Given the description of an element on the screen output the (x, y) to click on. 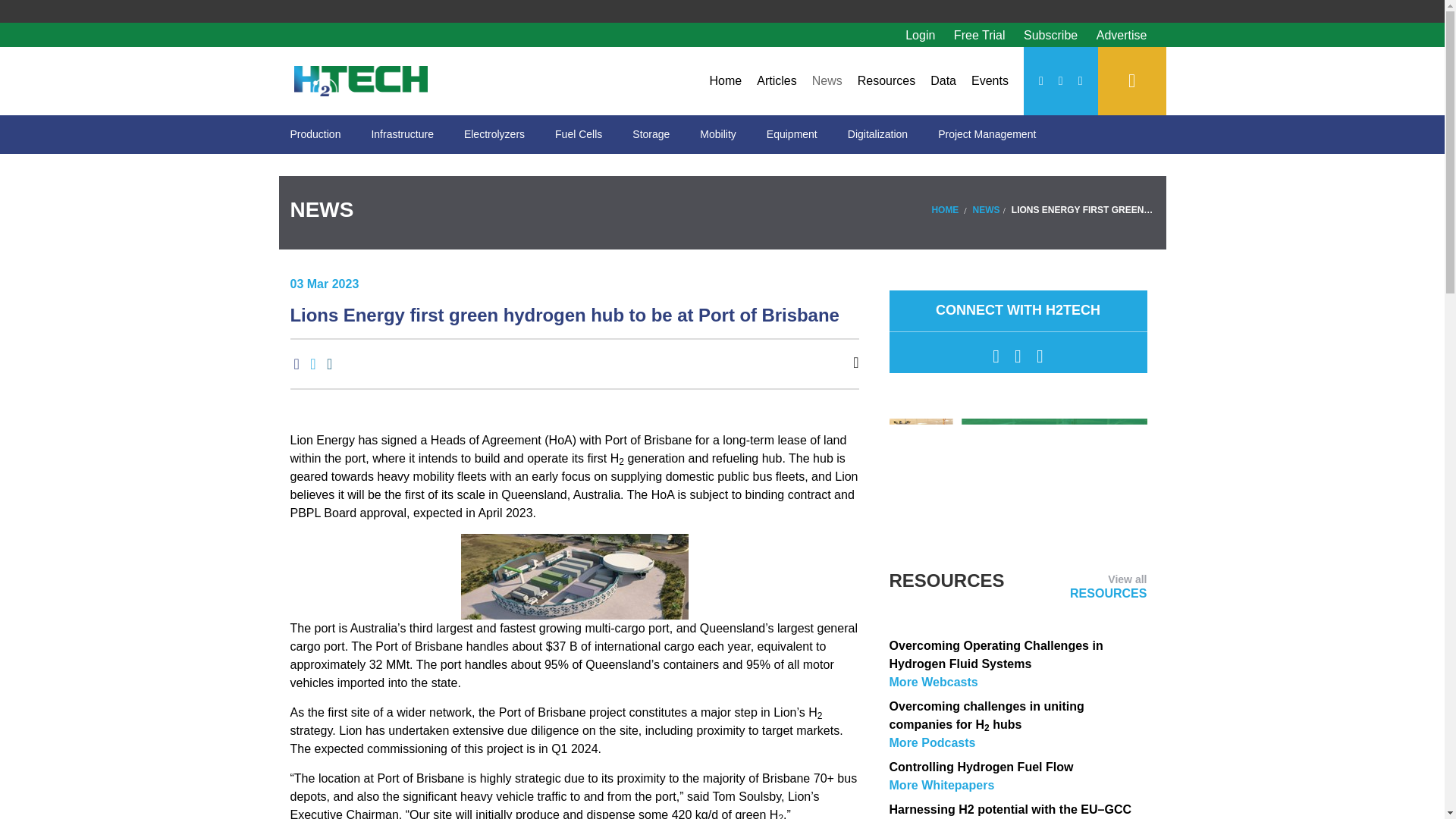
HOME (944, 210)
Infrastructure (401, 134)
Data (943, 81)
Storage (650, 134)
Project Management (987, 134)
Home (725, 81)
Skip to main content (721, 15)
Advertise (1121, 35)
Login (920, 35)
Fuel Cells (578, 134)
Free Trial (981, 35)
H2TECH (361, 81)
Electrolyzers (494, 134)
Subscribe (1052, 35)
Events (989, 81)
